Given the description of an element on the screen output the (x, y) to click on. 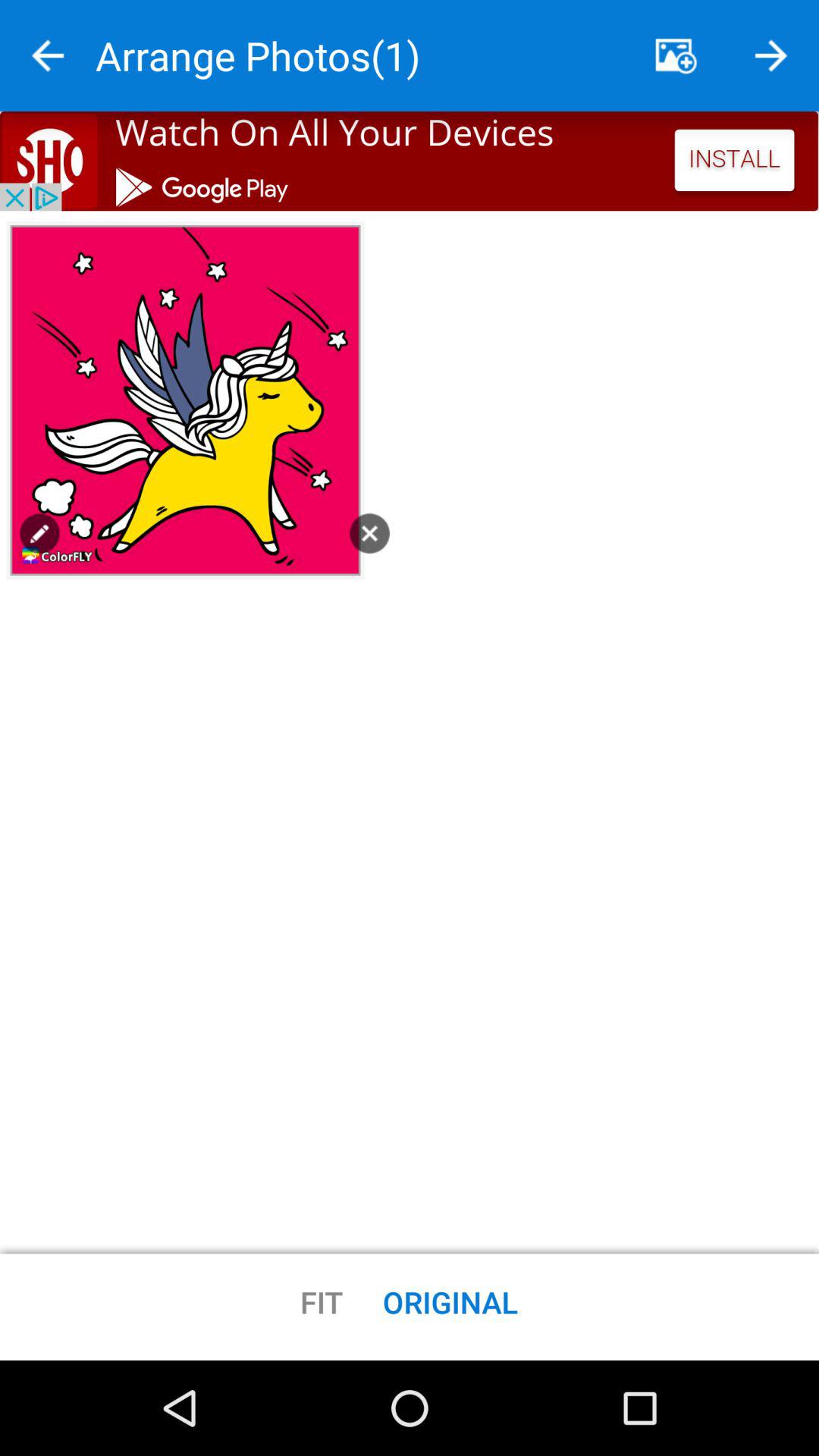
hide button (675, 55)
